Given the description of an element on the screen output the (x, y) to click on. 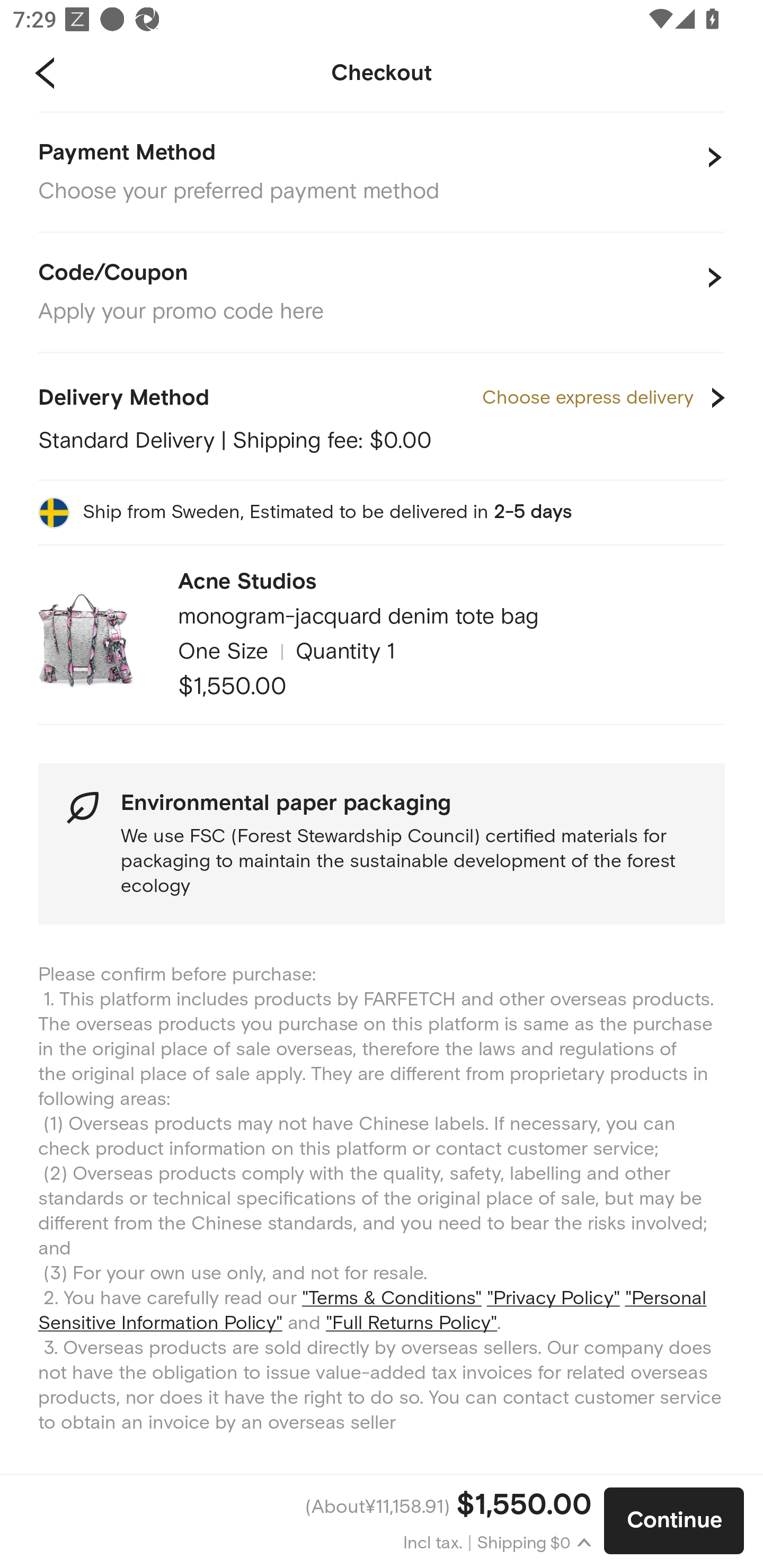
Code/Coupon Apply your promo code here (381, 292)
(About¥11,158.91) $1,550.00 Incl tax. Shipping $0 (302, 1520)
Continue (673, 1520)
